Given the description of an element on the screen output the (x, y) to click on. 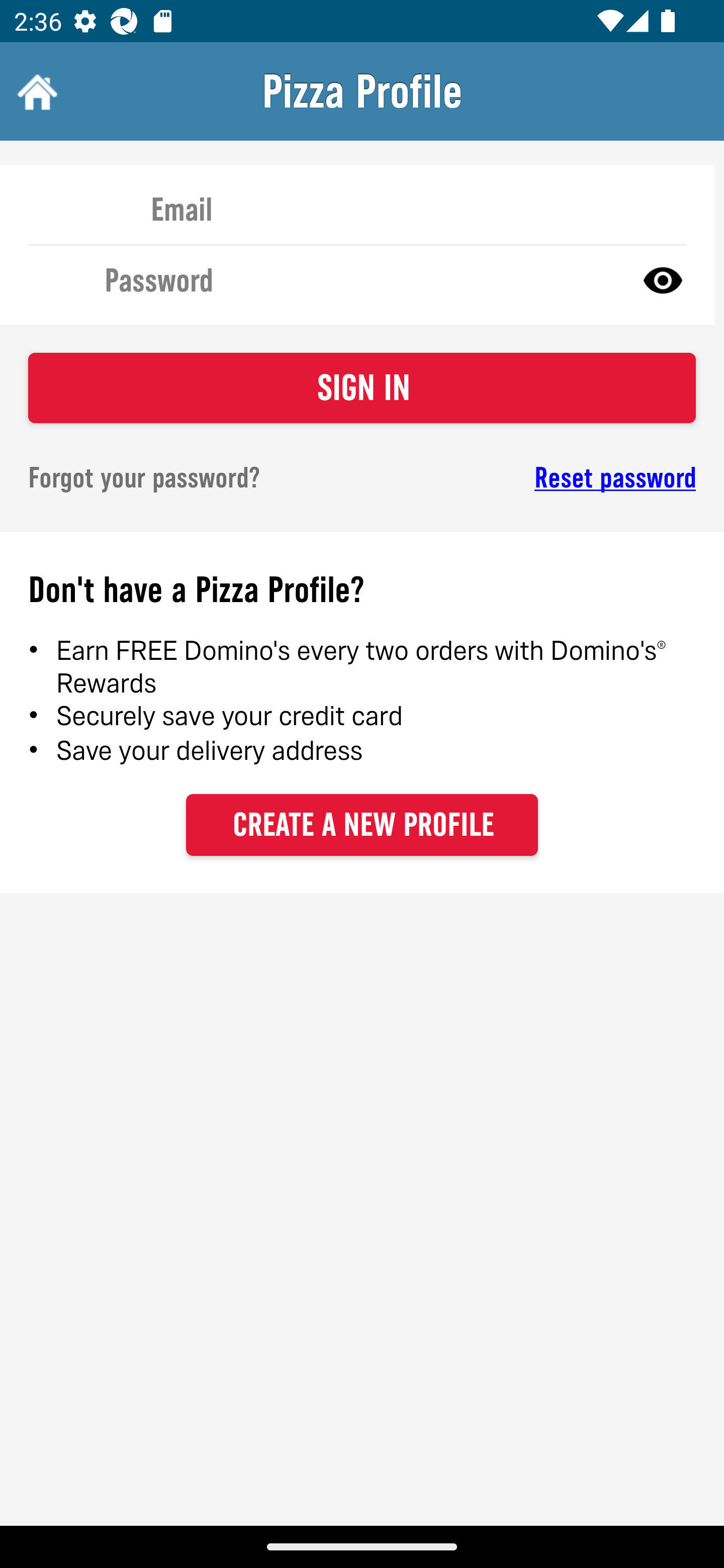
Home (35, 91)
Show Password (663, 279)
SIGN IN (361, 387)
Reset password (545, 477)
CREATE A NEW PROFILE (361, 824)
